Given the description of an element on the screen output the (x, y) to click on. 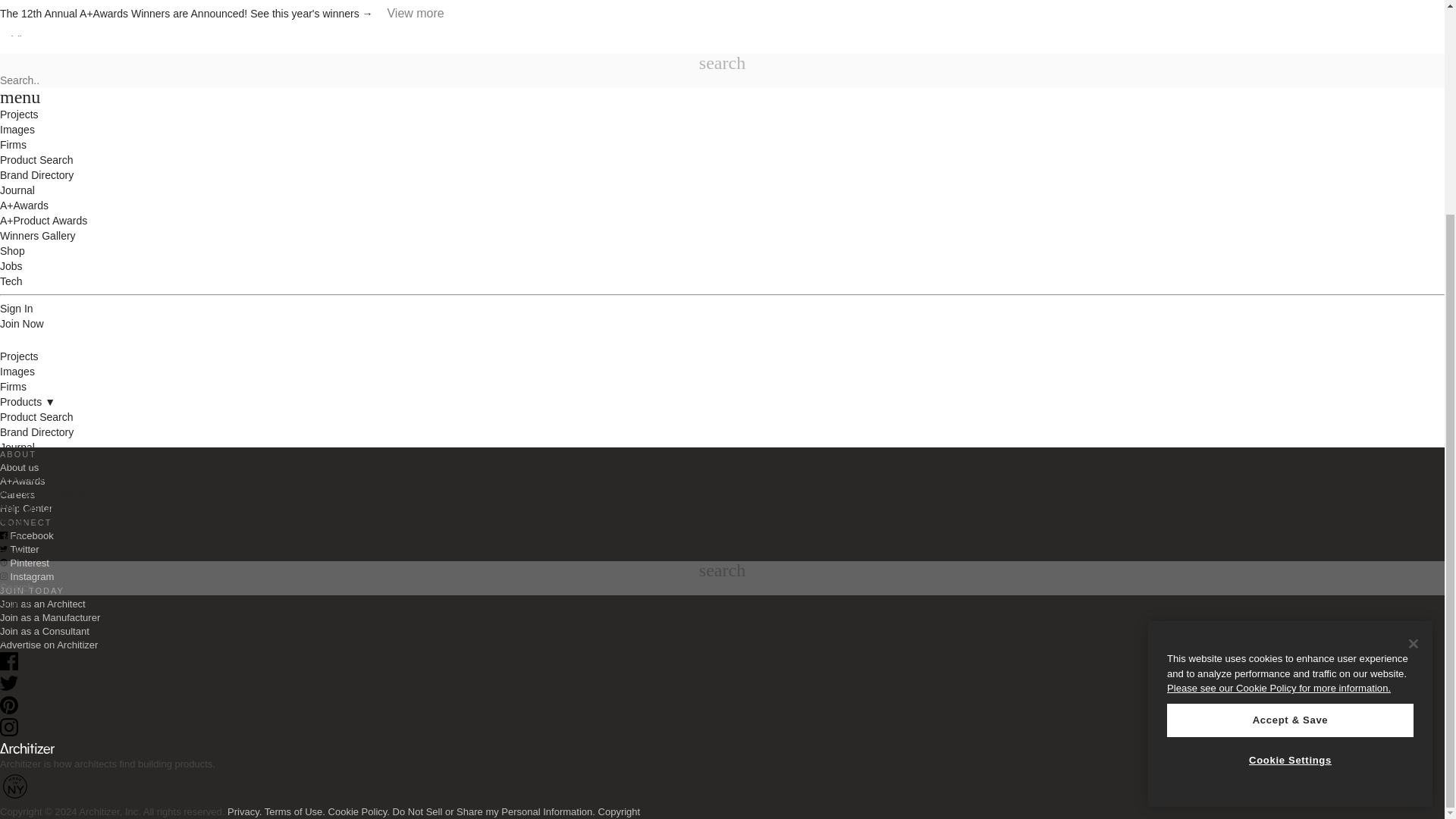
Instagram (26, 576)
Pinterest icon (3, 562)
Architizer (27, 57)
Firms (13, 105)
Twitter icon (3, 548)
Instagram (8, 732)
Pinterest (8, 710)
Made in New York icon (15, 786)
Twitter (19, 549)
Product Search (37, 136)
Winners Gallery (37, 227)
Instagram icon (8, 727)
Shop (12, 242)
Help Center (26, 508)
Advertise on Architizer (48, 644)
